Given the description of an element on the screen output the (x, y) to click on. 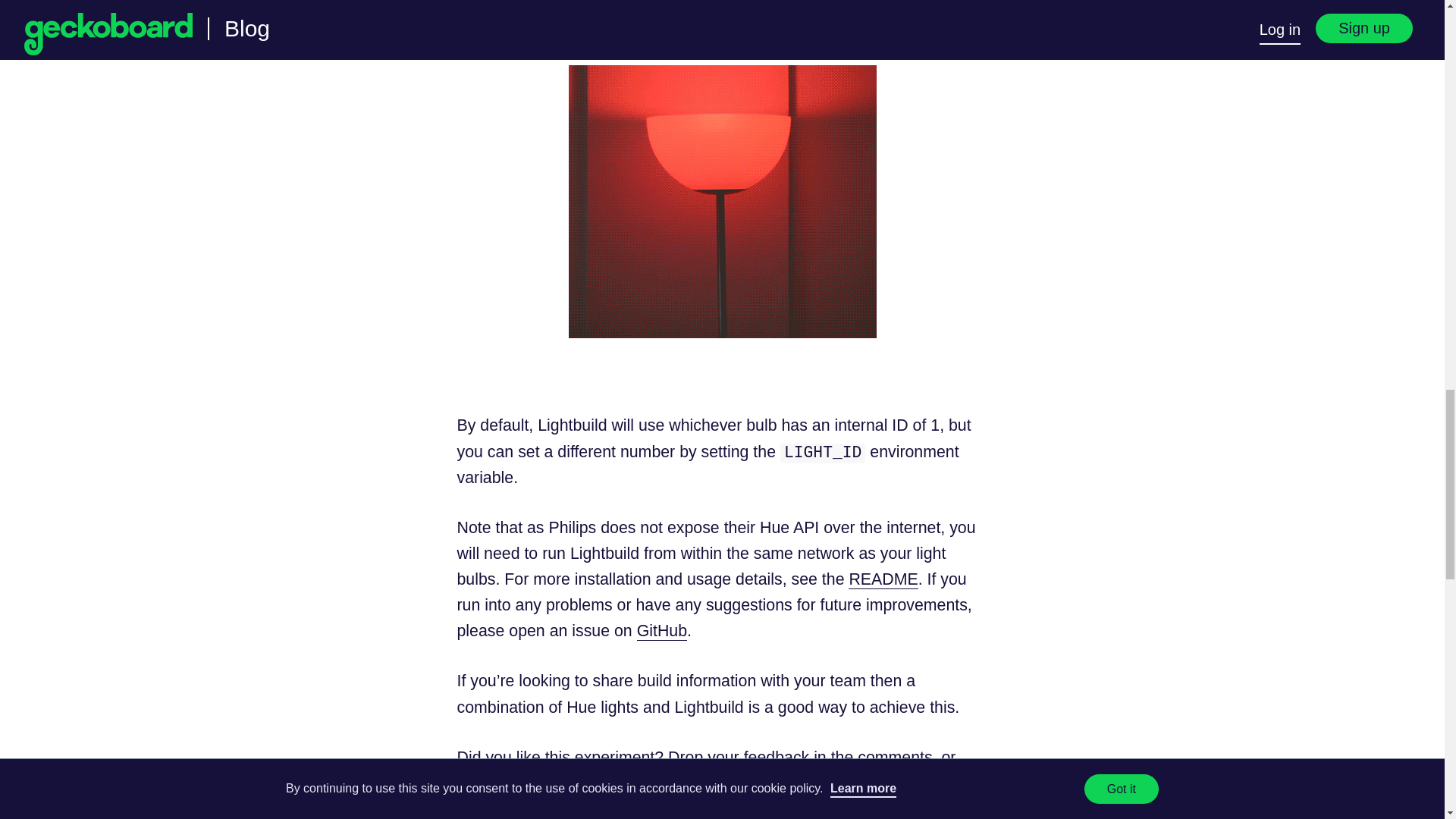
README (882, 579)
GitHub repo (643, 783)
GitHub (662, 630)
